Given the description of an element on the screen output the (x, y) to click on. 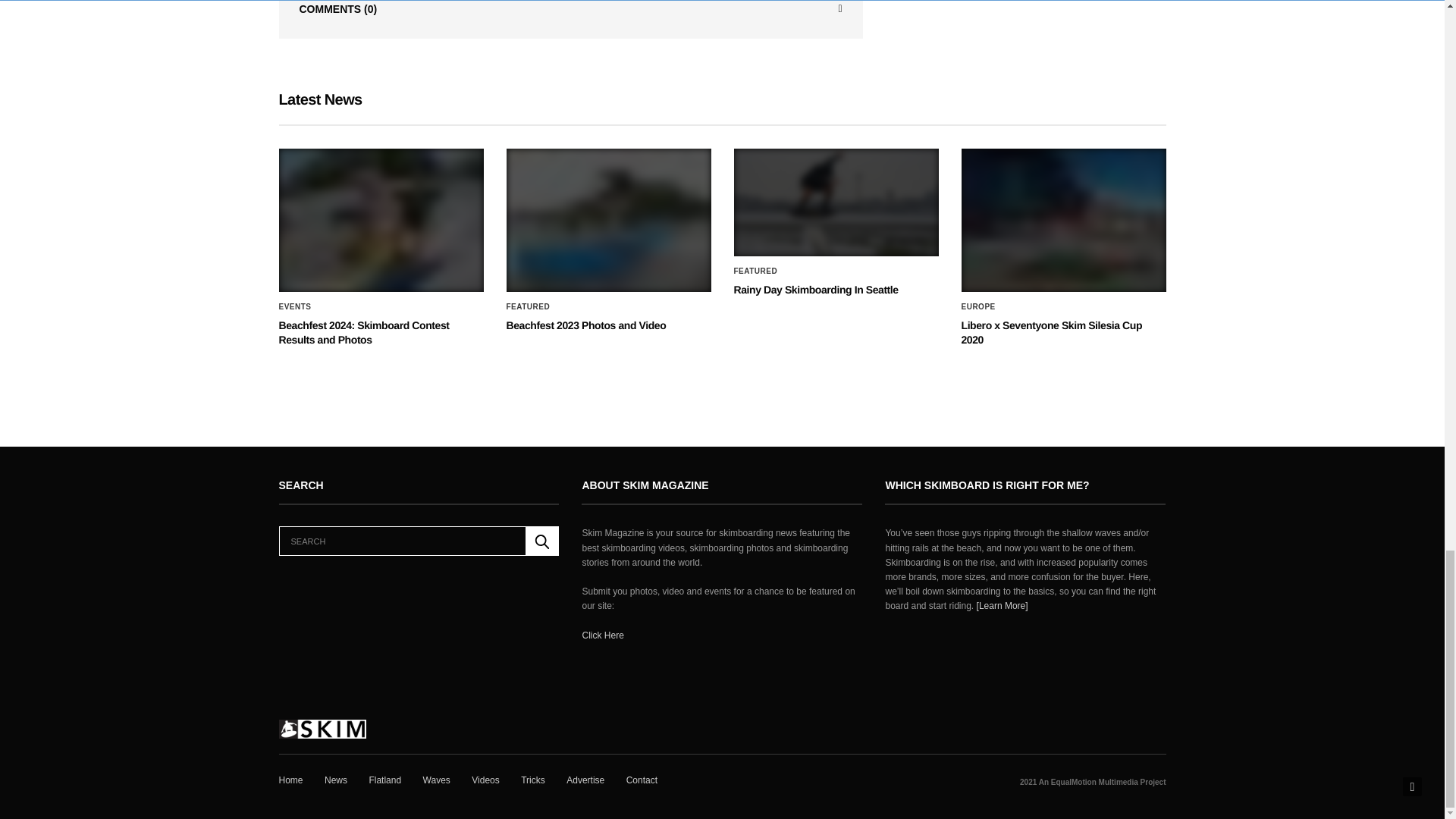
Search (542, 541)
